Given the description of an element on the screen output the (x, y) to click on. 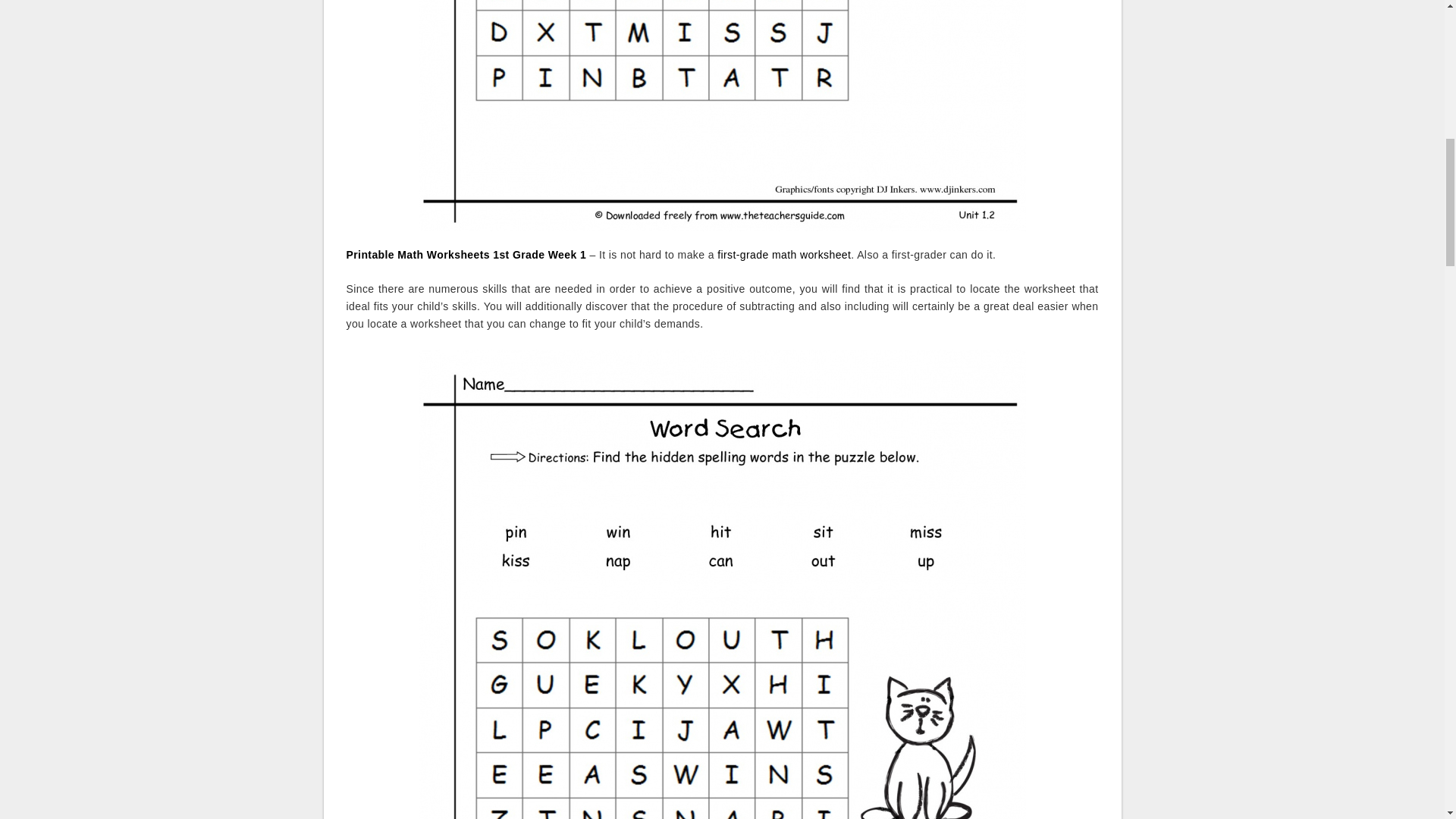
Printable Math Worksheets 1st Grade Week 1 (466, 254)
first-grade math worksheet (783, 254)
